Given the description of an element on the screen output the (x, y) to click on. 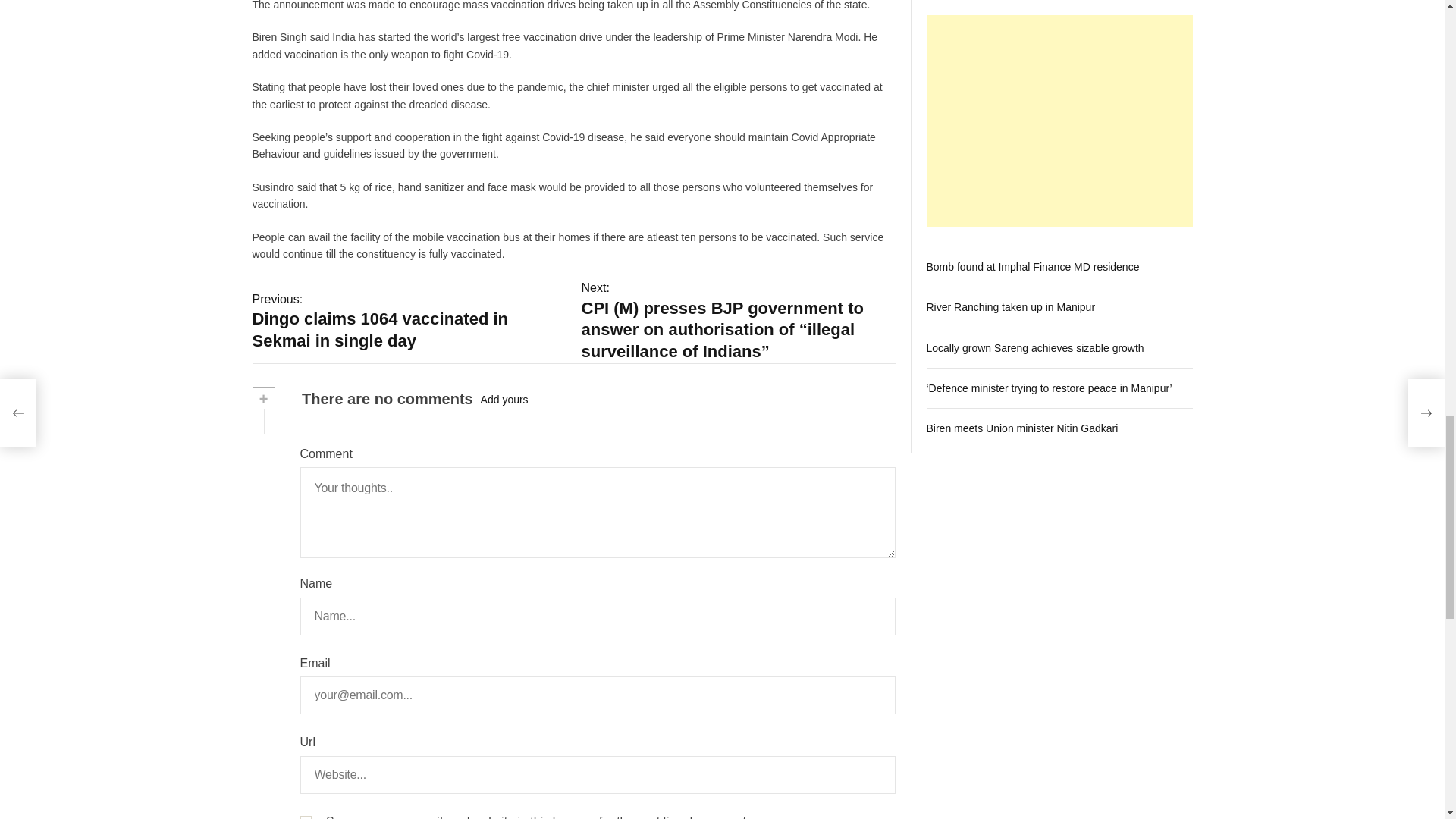
Add yours (504, 399)
yes (305, 817)
